Given the description of an element on the screen output the (x, y) to click on. 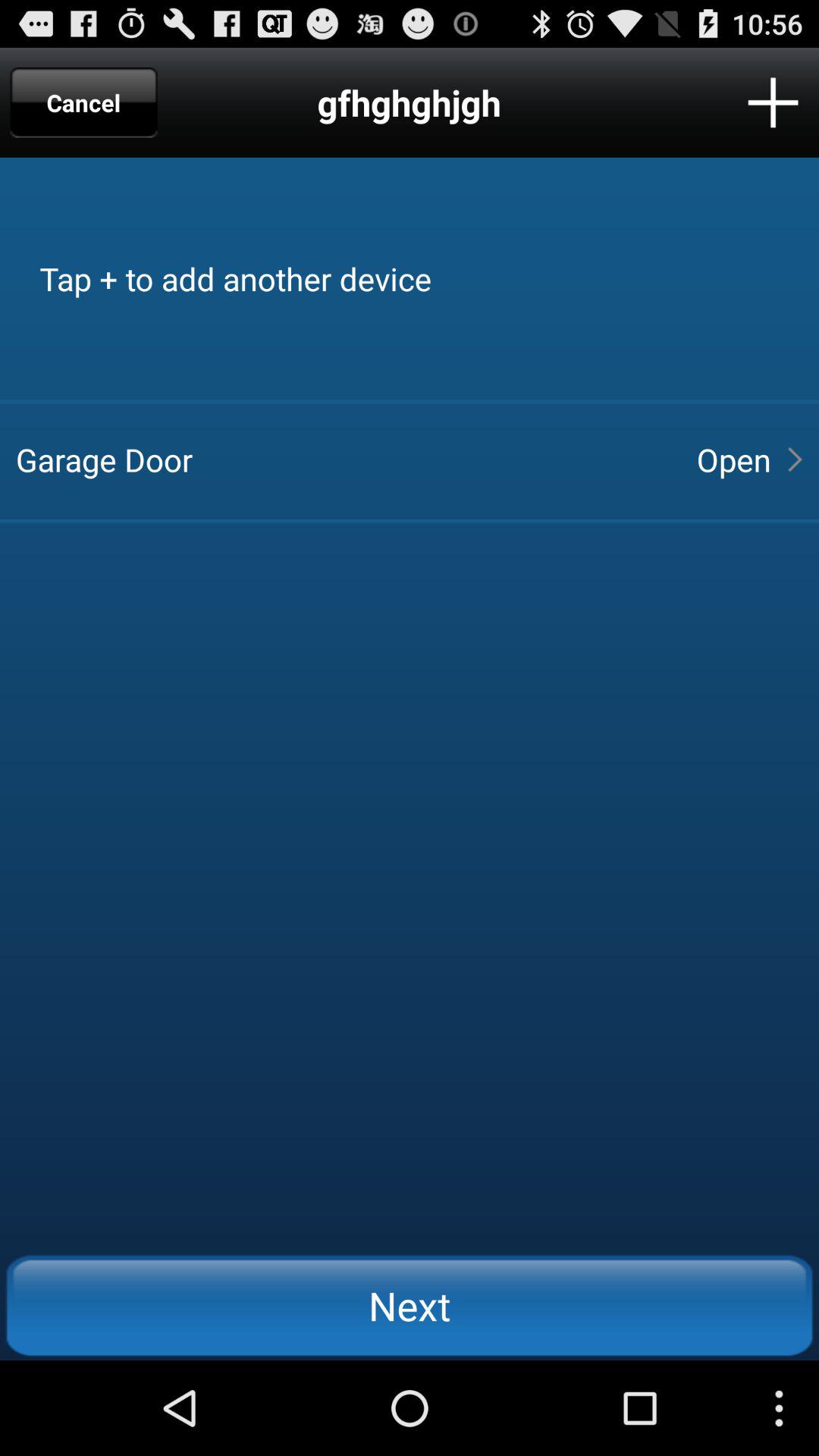
click app next to the gfhghghjgh app (83, 102)
